Given the description of an element on the screen output the (x, y) to click on. 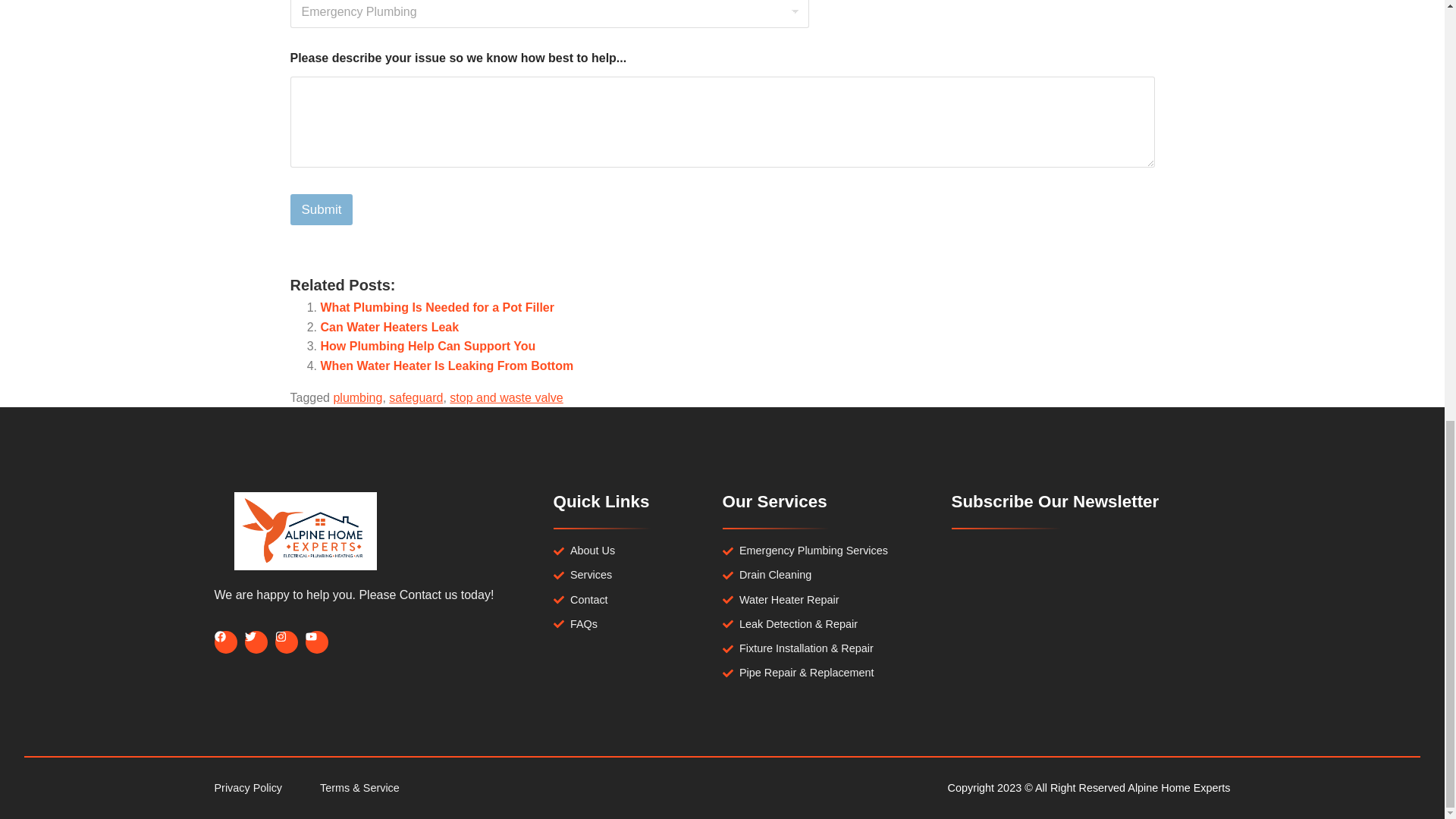
What Plumbing Is Needed for a Pot Filler (436, 307)
When Water Heater Is Leaking From Bottom (446, 365)
Submit (320, 209)
When Water Heater Is Leaking From Bottom (446, 365)
Can Water Heaters Leak (389, 327)
FAQs (637, 624)
Can Water Heaters Leak (389, 327)
stop and waste valve (505, 397)
What Plumbing Is Needed for a Pot Filler (436, 307)
How Plumbing Help Can Support You (427, 345)
